Given the description of an element on the screen output the (x, y) to click on. 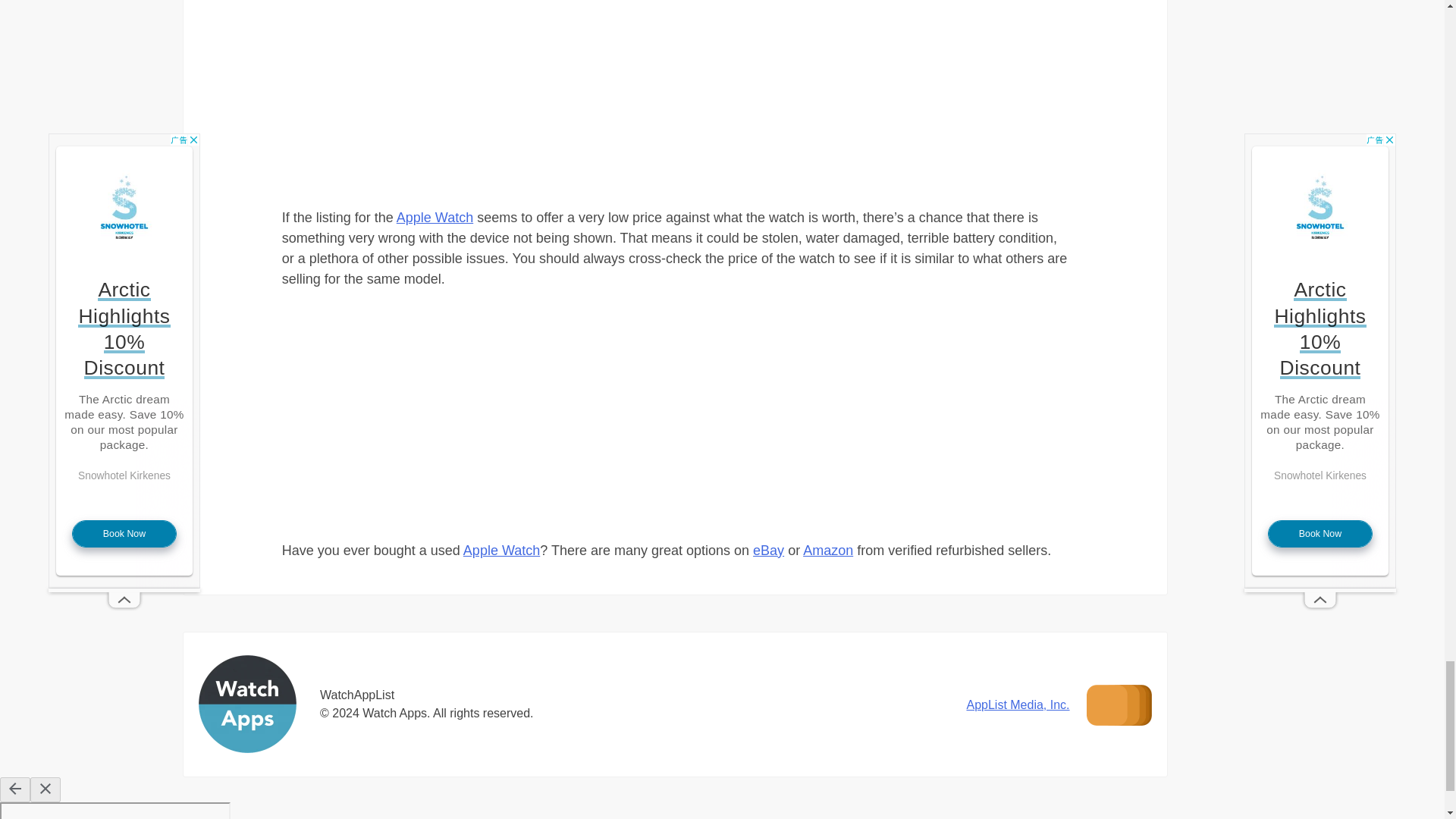
Amazon (828, 549)
AppList Media, Inc. (1017, 704)
Apple Watch (434, 217)
eBay (768, 549)
Apple Watch (501, 549)
